Given the description of an element on the screen output the (x, y) to click on. 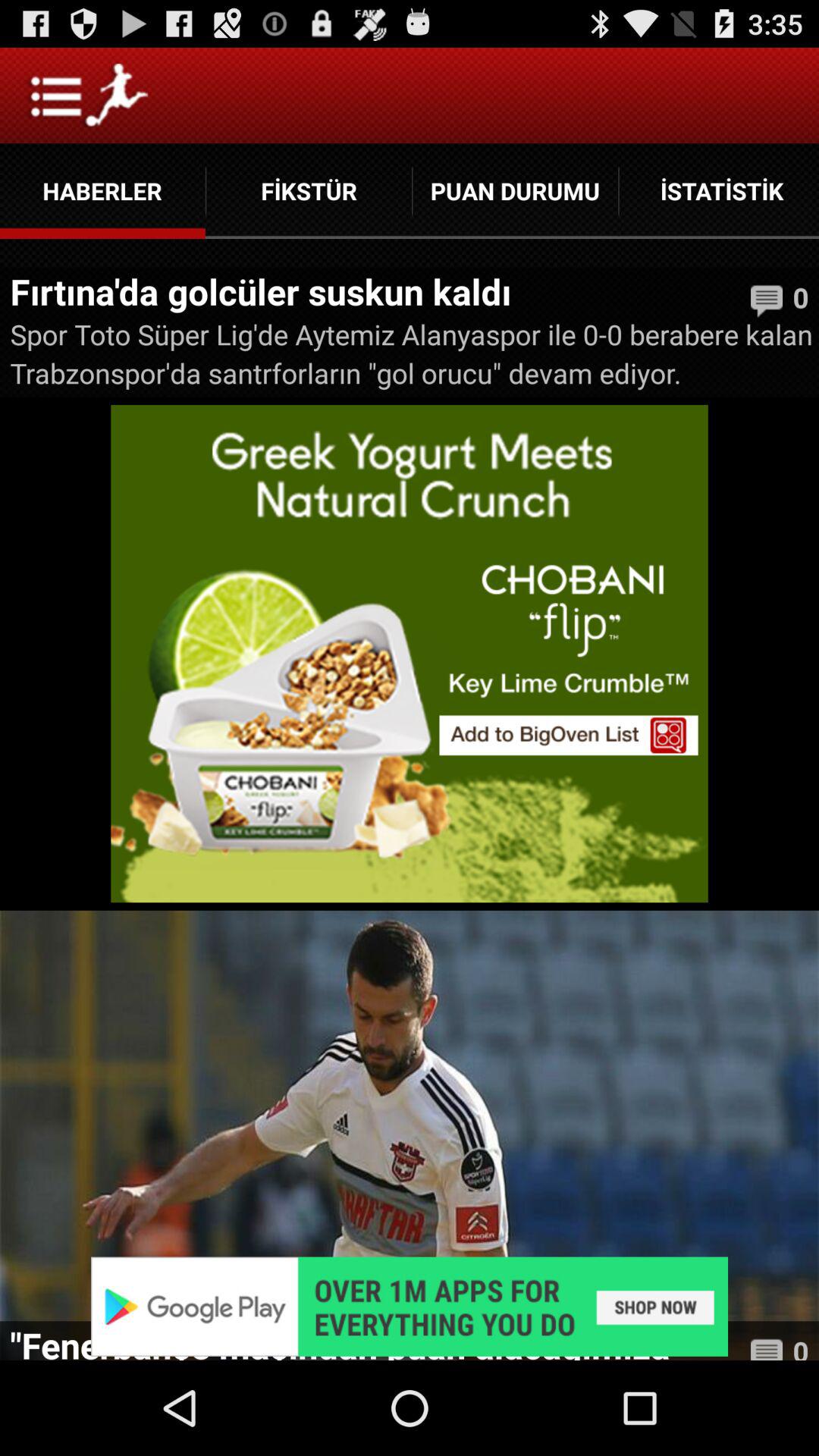
visit sponsor advertisement (409, 1306)
